Given the description of an element on the screen output the (x, y) to click on. 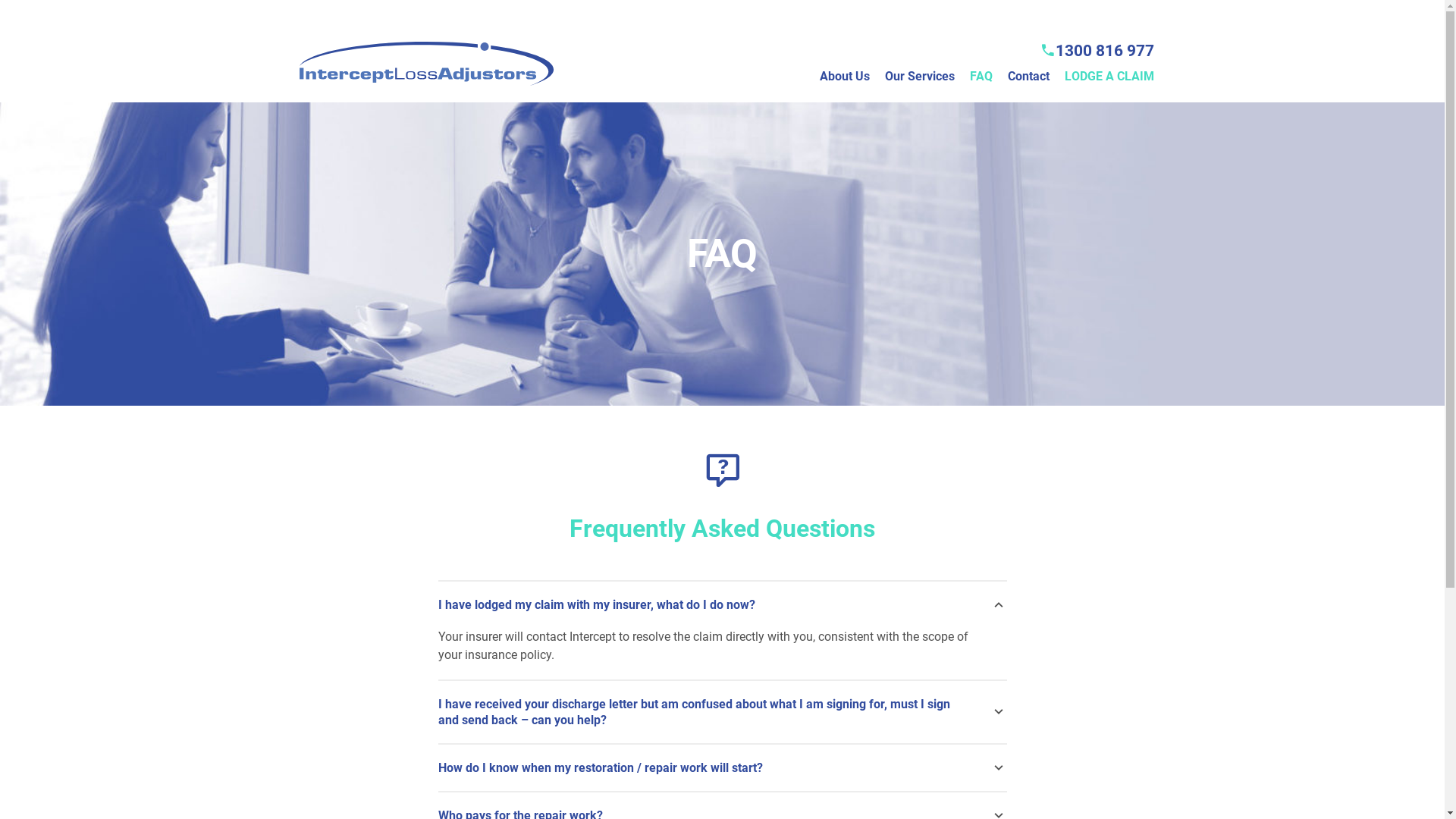
I have lodged my claim with my insurer, what do I do now? Element type: text (722, 604)
How do I know when my restoration / repair work will start? Element type: text (722, 767)
1300 816 977 Element type: text (1096, 50)
LODGE A CLAIM Element type: text (1109, 89)
About Us Element type: text (844, 89)
Contact Element type: text (1028, 89)
FAQ Element type: text (980, 89)
Our Services Element type: text (919, 89)
